Given the description of an element on the screen output the (x, y) to click on. 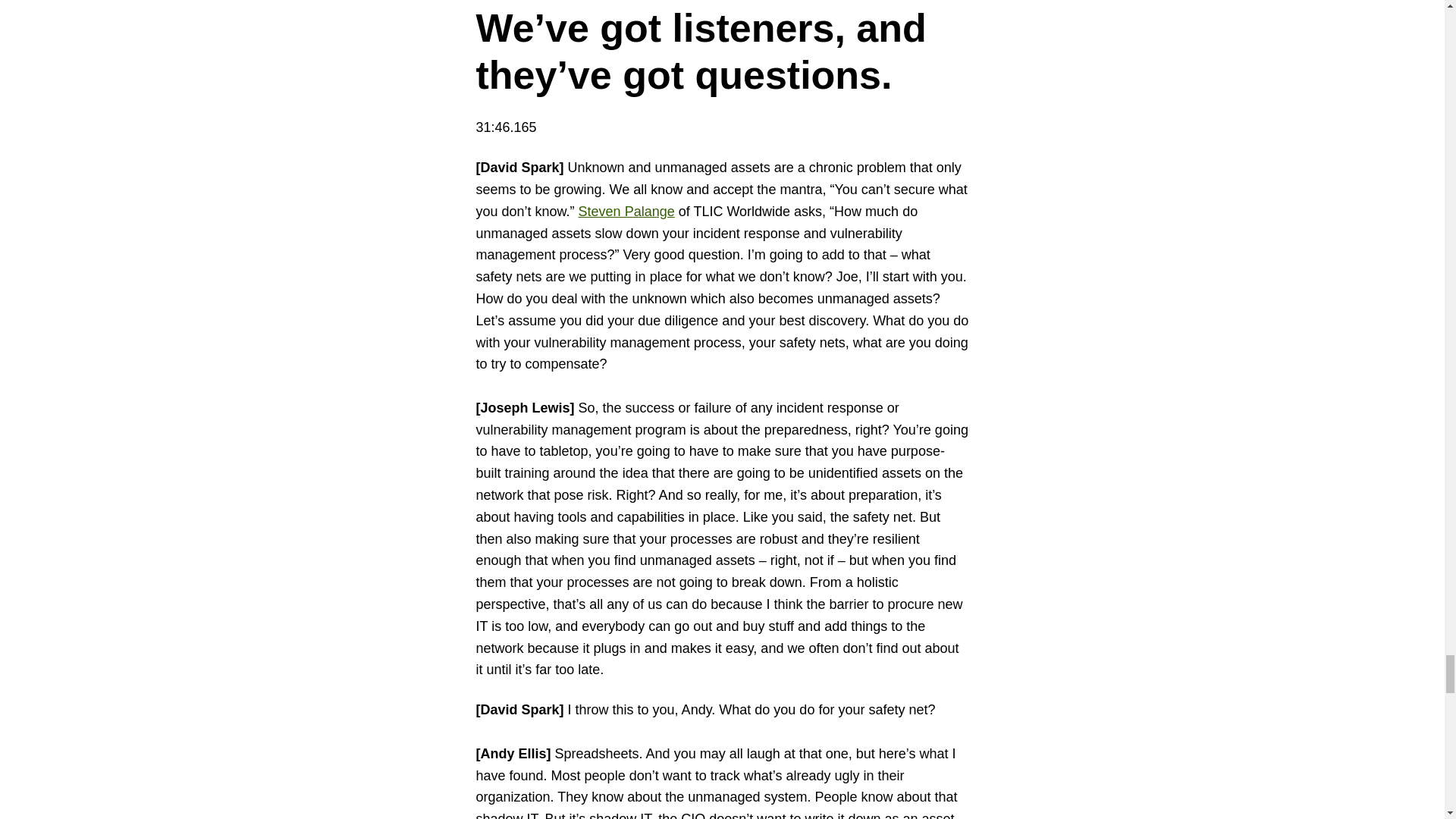
Steven Palange (626, 211)
